Given the description of an element on the screen output the (x, y) to click on. 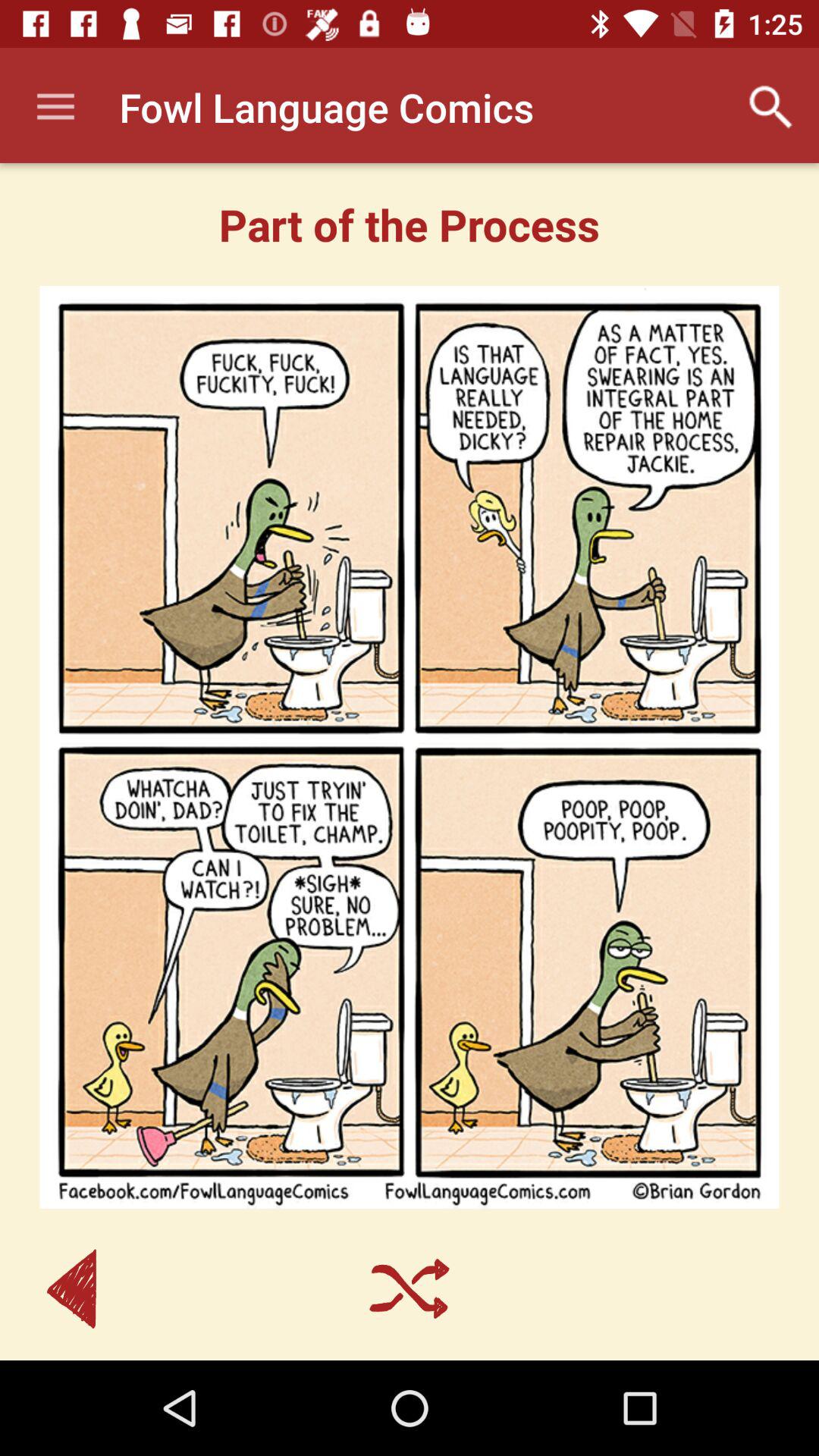
turn on app next to fowl language comics item (771, 107)
